Given the description of an element on the screen output the (x, y) to click on. 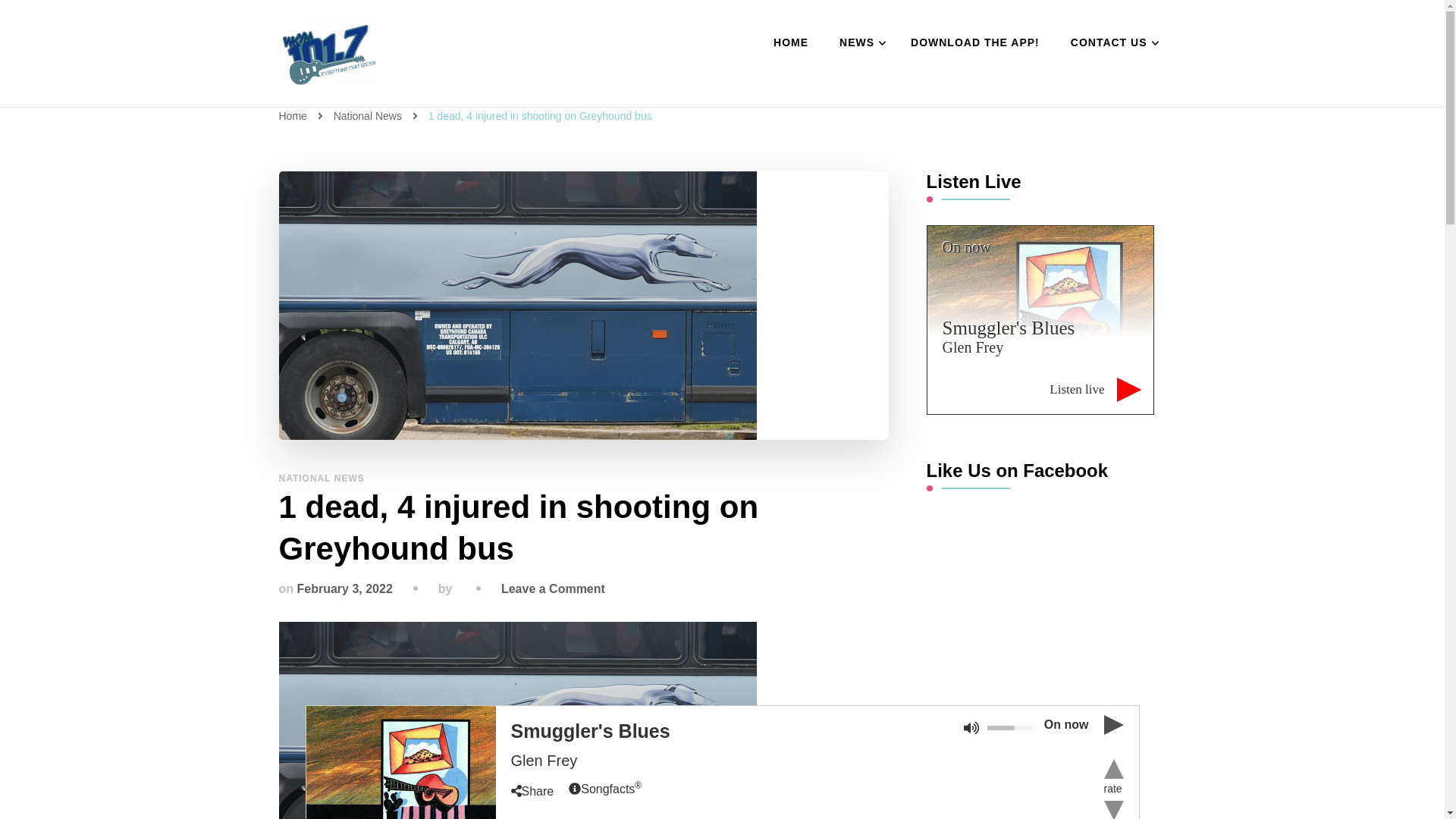
CONTACT US (1111, 43)
1 dead, 4 injured in shooting on Greyhound bus (540, 115)
NEWS (859, 43)
National News (368, 115)
DOWNLOAD THE APP! (974, 43)
WKYM 101.7 (380, 104)
Expand (400, 762)
February 3, 2022 (345, 588)
HOME (791, 43)
Home (293, 115)
NATIONAL NEWS (322, 478)
